Given the description of an element on the screen output the (x, y) to click on. 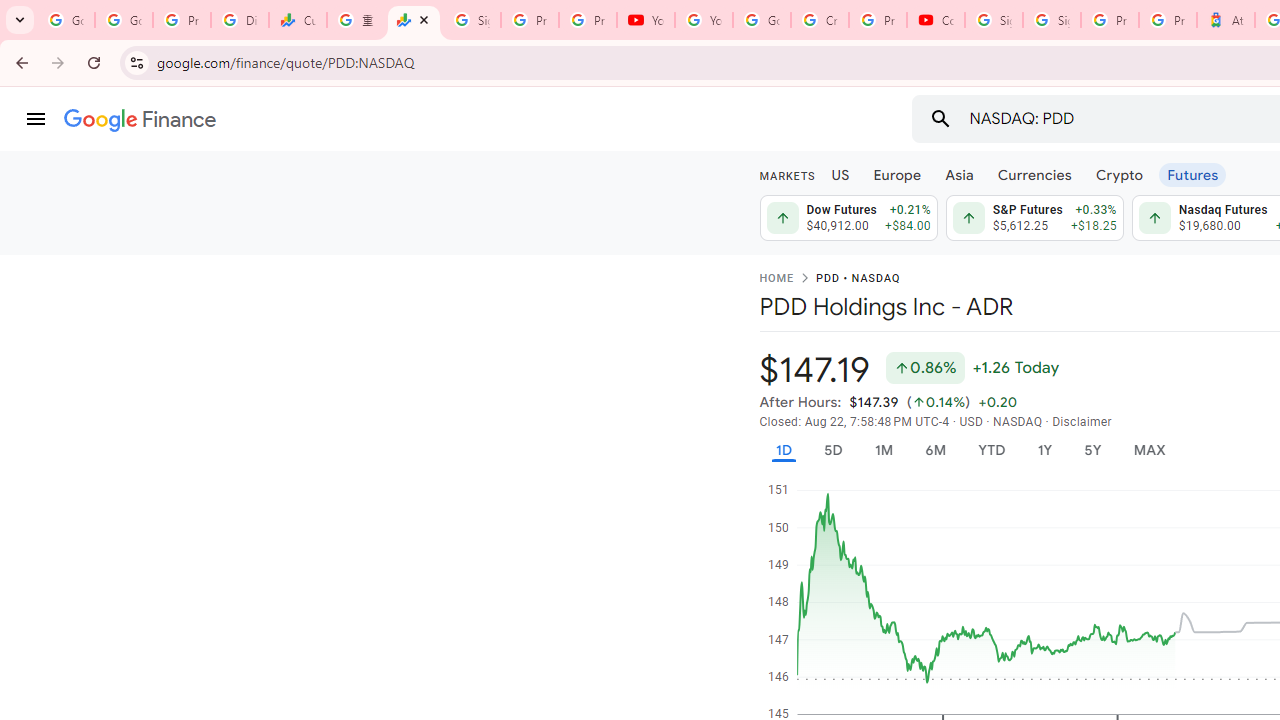
Sign in - Google Accounts (1051, 20)
Finance (140, 120)
Dow Futures $40,912.00 Up by 0.20% +$84.00 (848, 218)
5D (832, 449)
